Given the description of an element on the screen output the (x, y) to click on. 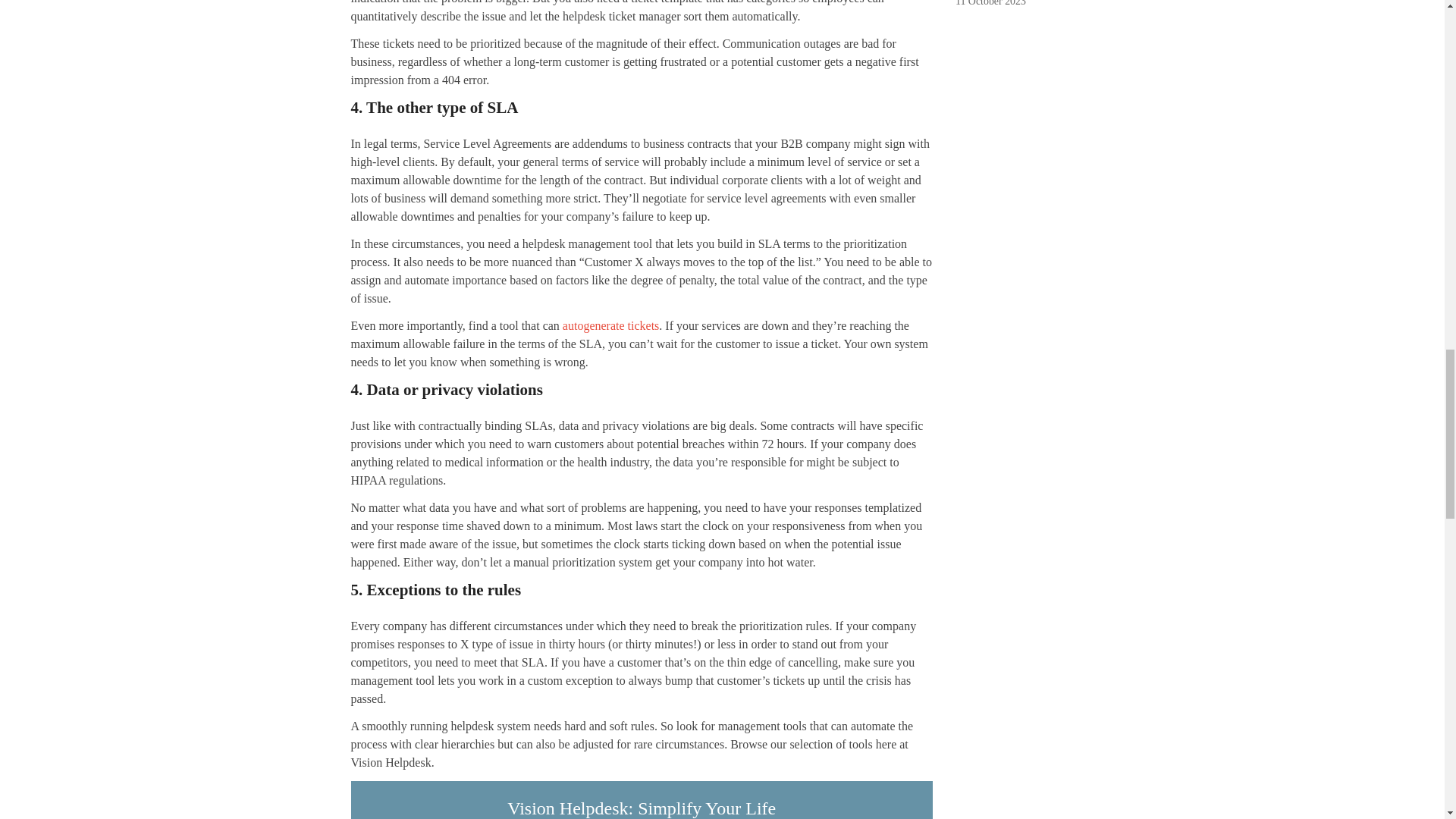
autogenerate tickets (610, 325)
